Given the description of an element on the screen output the (x, y) to click on. 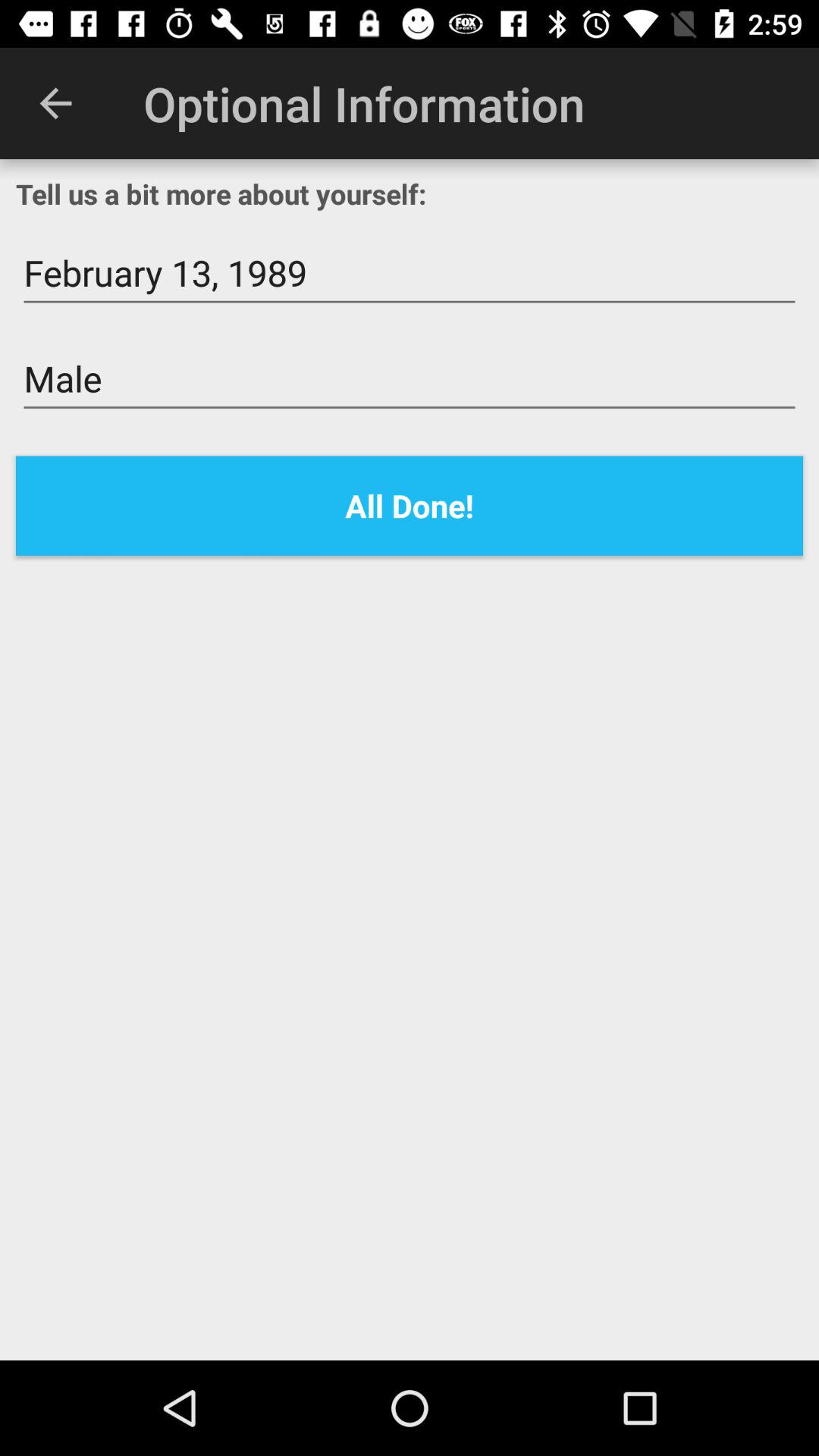
flip until the all done! item (409, 505)
